Given the description of an element on the screen output the (x, y) to click on. 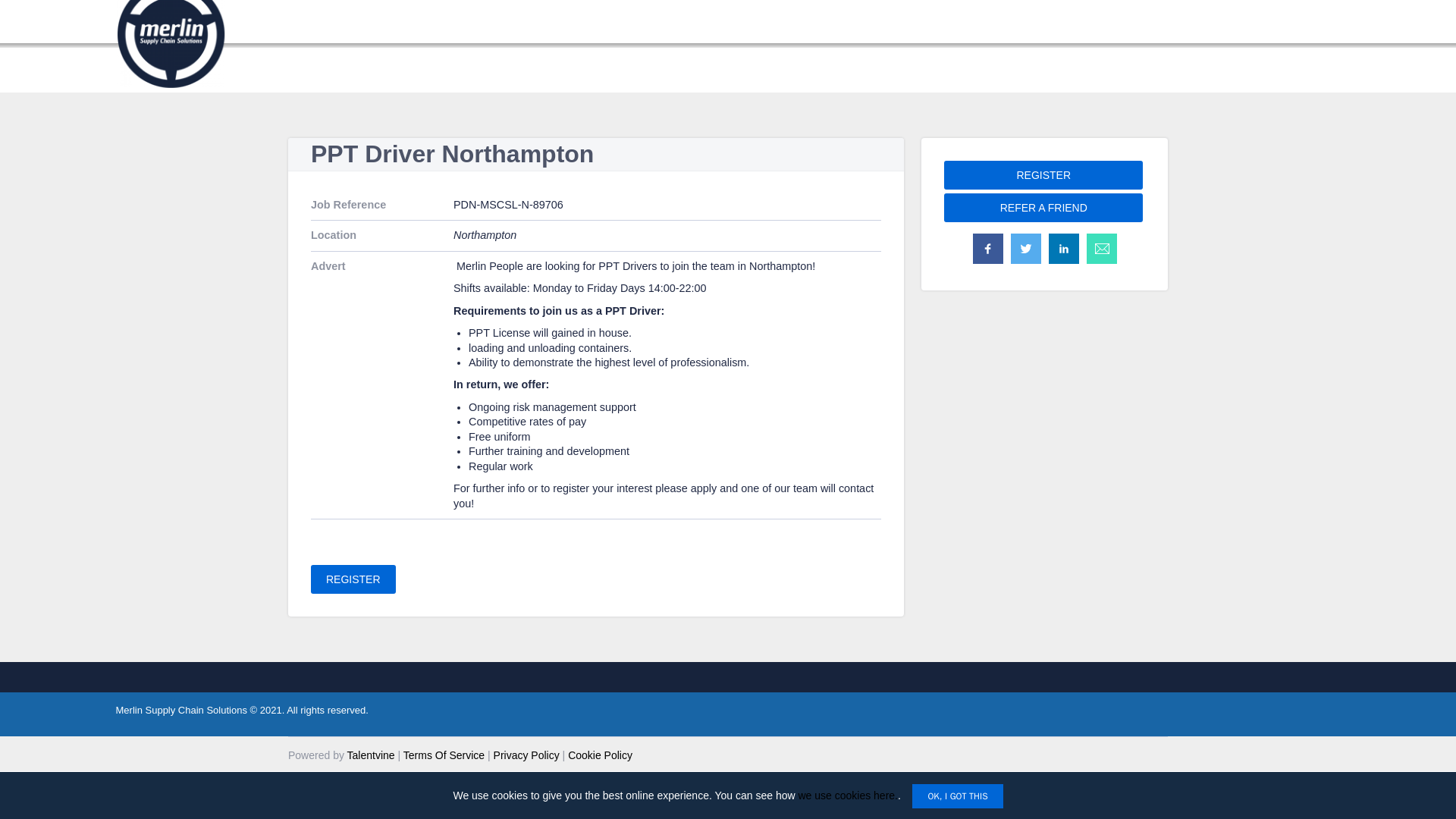
Register (353, 579)
Terms Of Service (443, 755)
Register (1042, 174)
Merlin Supply Chain Solutions (180, 709)
Share via Email (1102, 248)
Privacy Policy (526, 755)
Register (1042, 174)
Register (353, 579)
Cookie Policy (599, 755)
Share on LinkedIn (1064, 248)
